Given the description of an element on the screen output the (x, y) to click on. 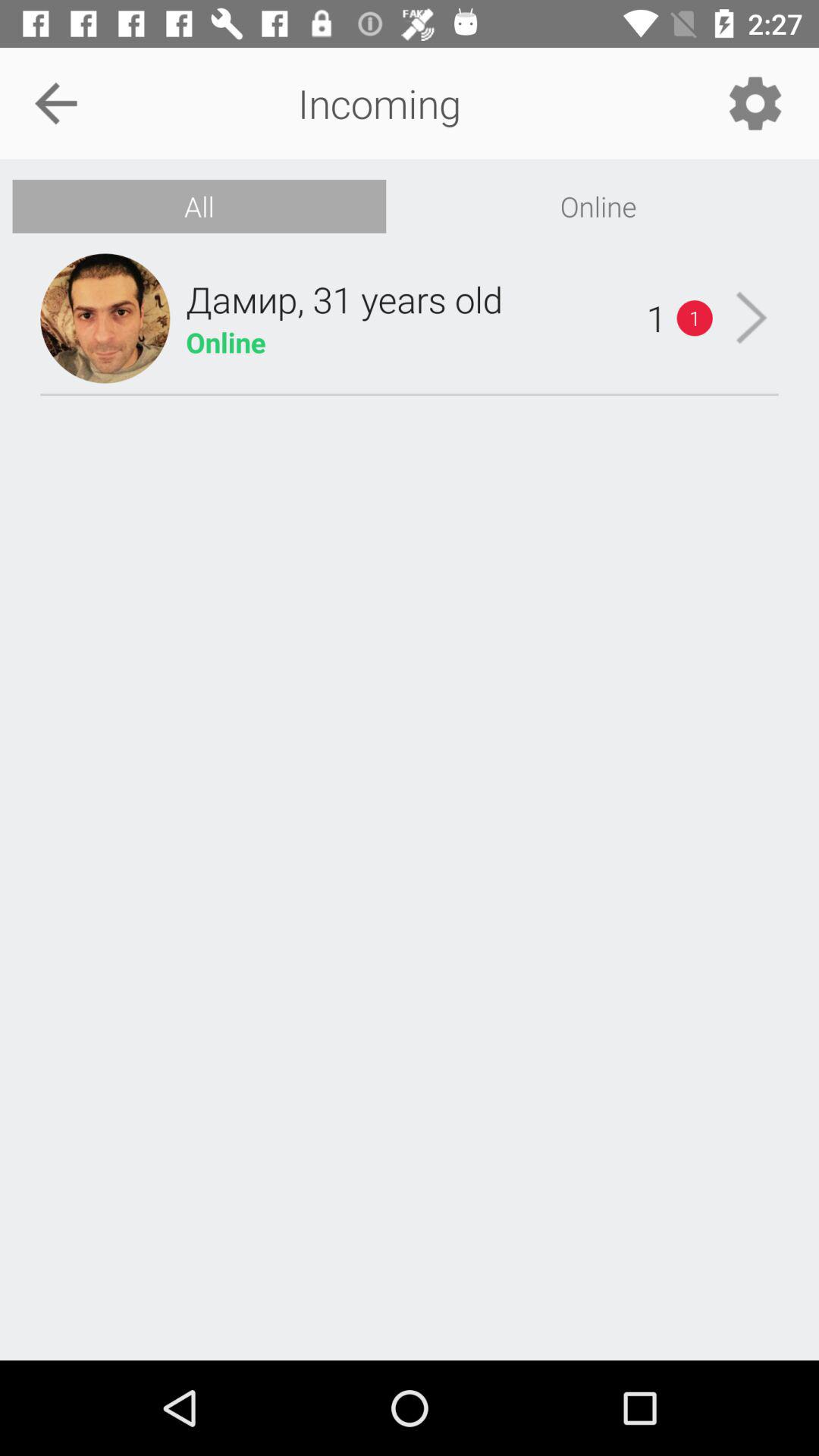
choose the icon next to the incoming icon (55, 103)
